Given the description of an element on the screen output the (x, y) to click on. 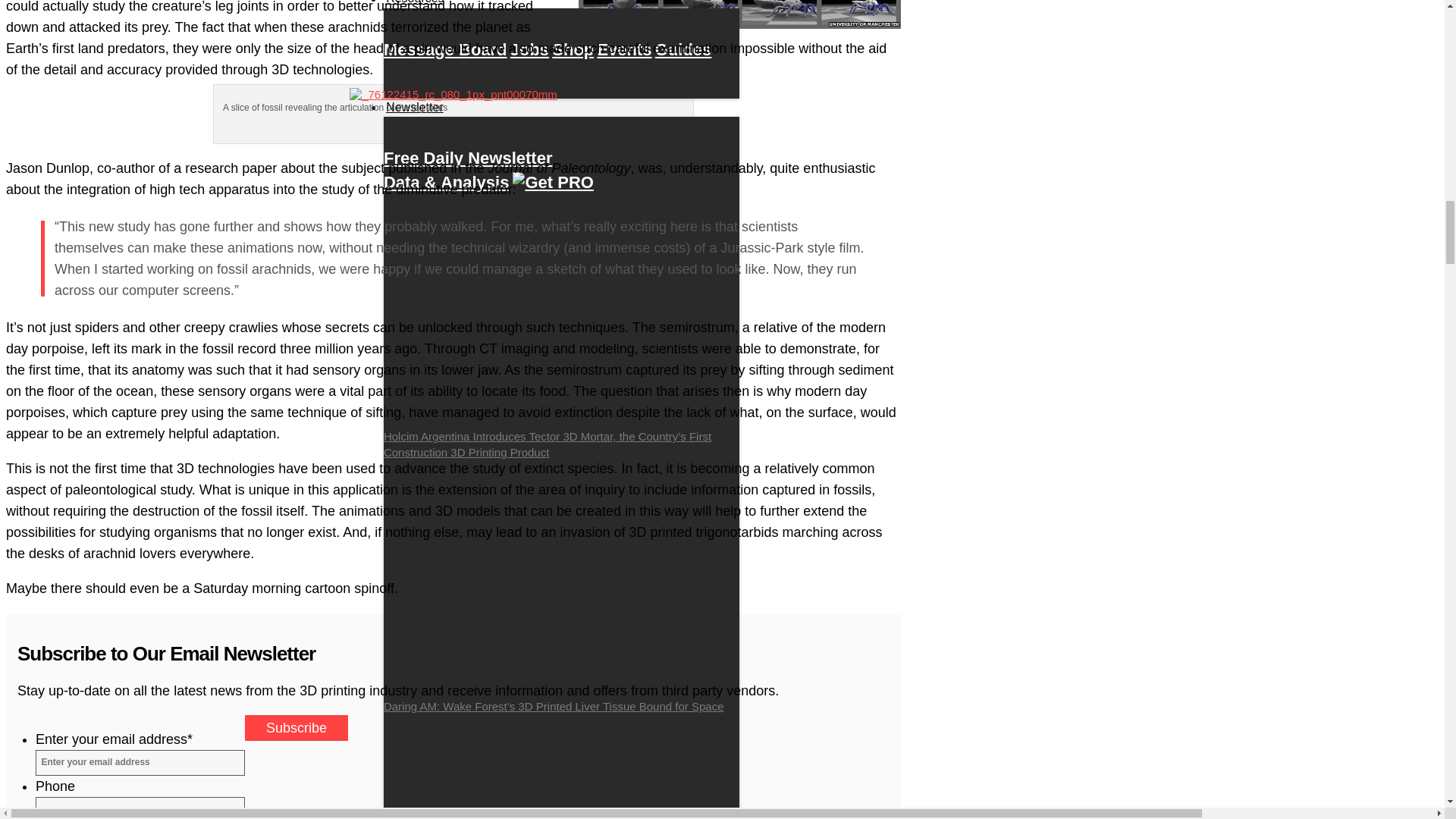
Subscribe (295, 727)
